Given the description of an element on the screen output the (x, y) to click on. 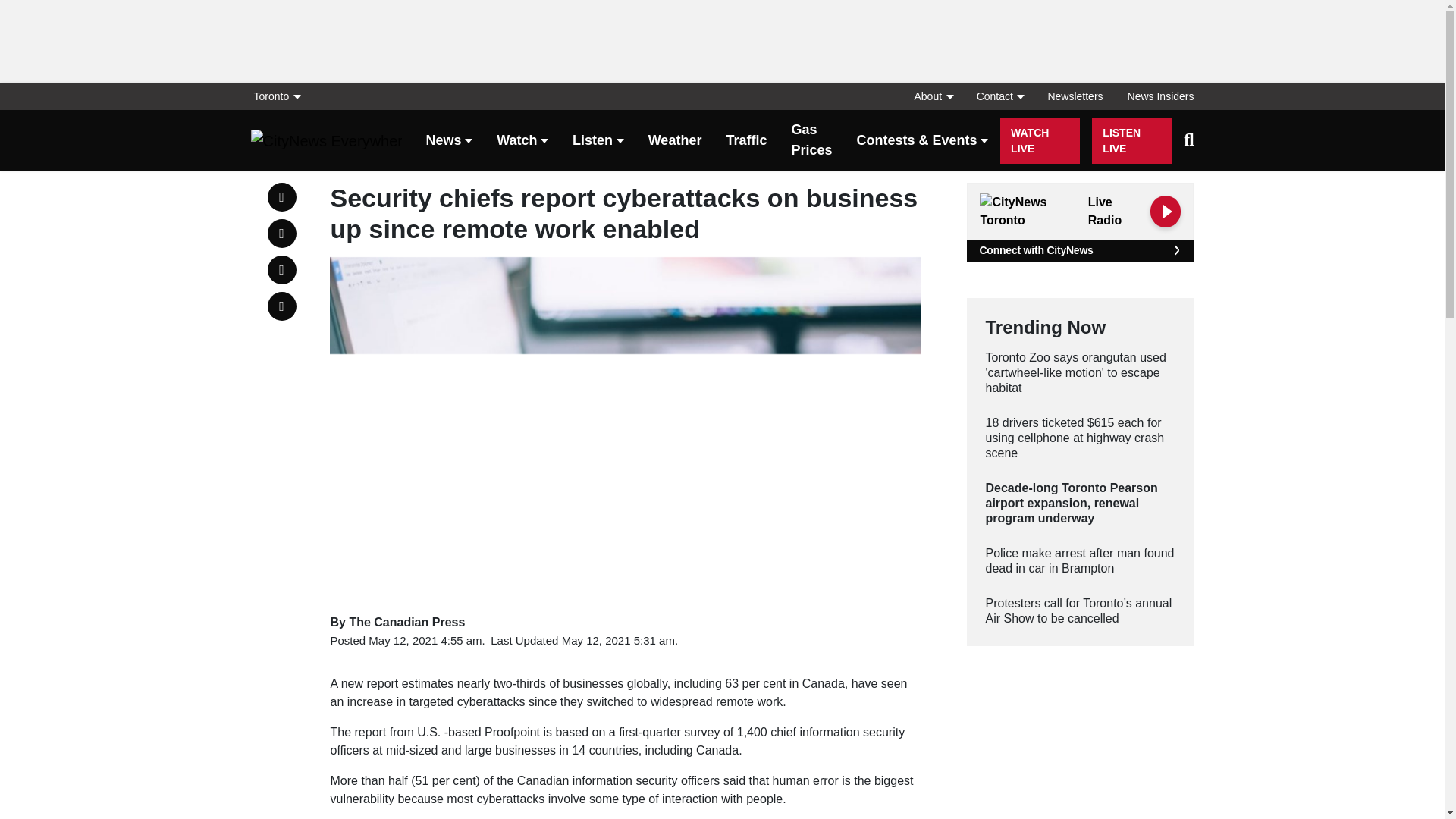
About (932, 96)
Contact (999, 96)
Toronto (280, 96)
News Insiders (1154, 96)
News (449, 140)
Newsletters (1075, 96)
Watch (522, 140)
